Given the description of an element on the screen output the (x, y) to click on. 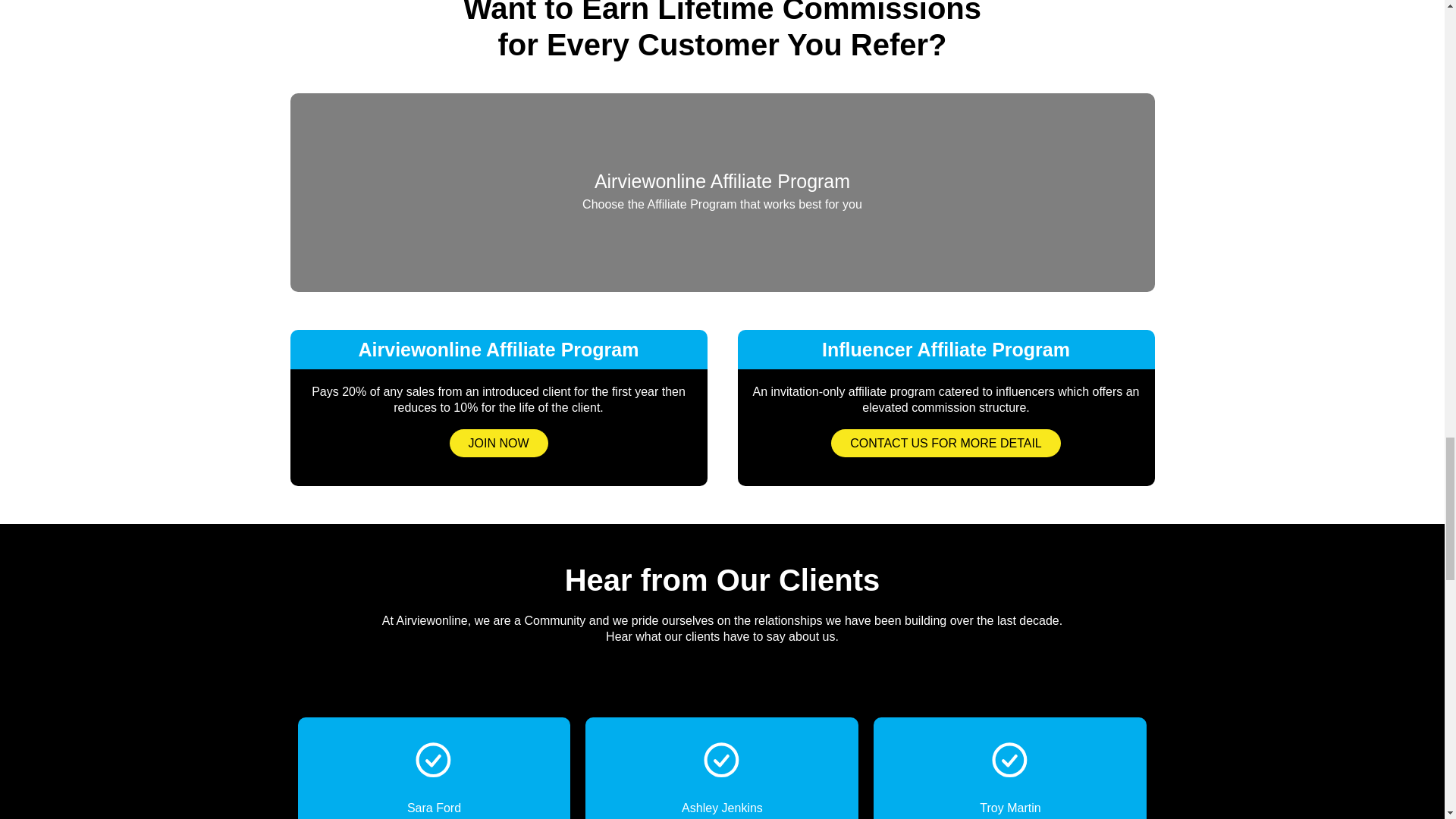
CONTACT US FOR MORE DETAIL (945, 443)
JOIN NOW (497, 443)
